Given the description of an element on the screen output the (x, y) to click on. 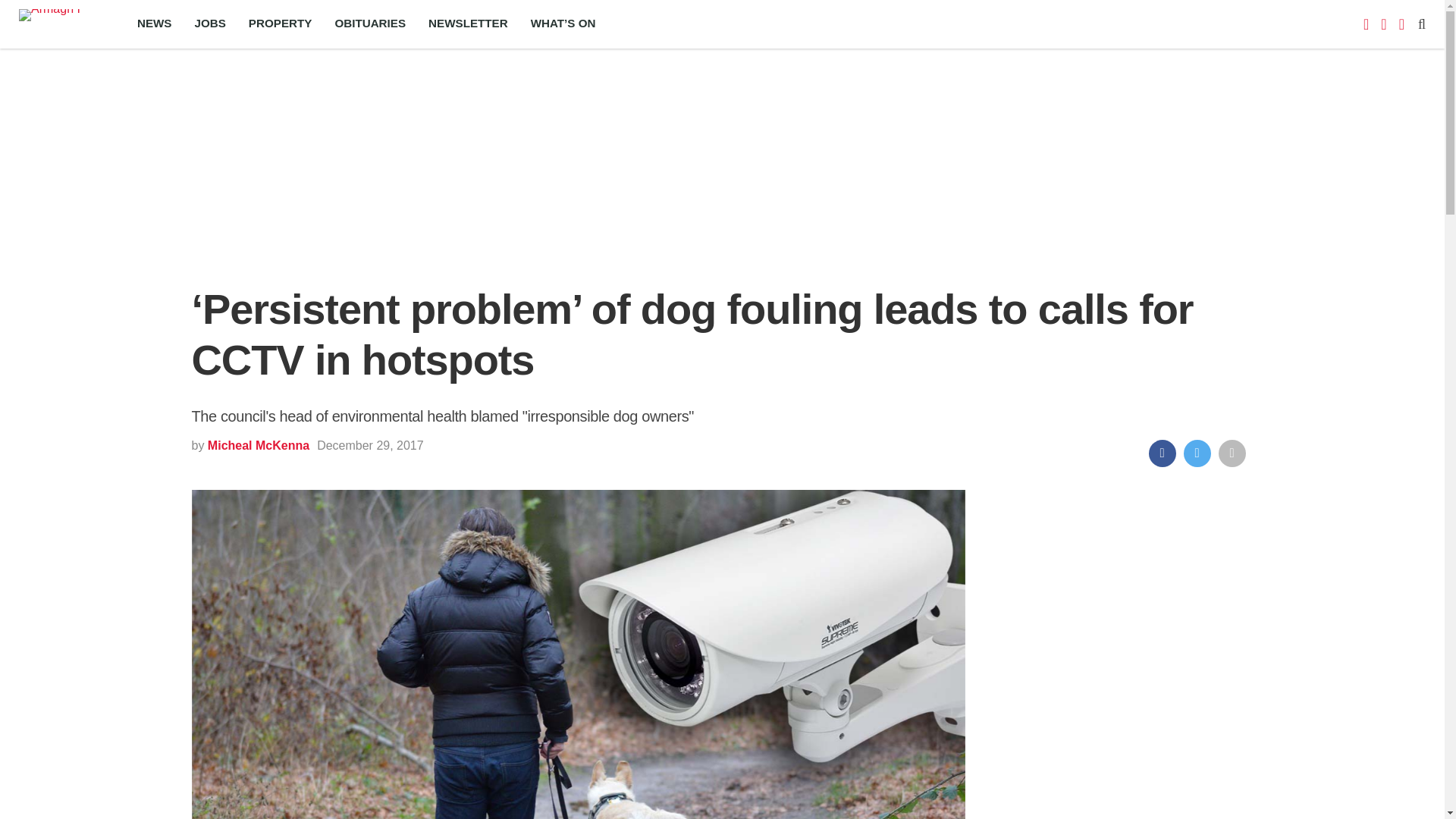
Posts by Micheal McKenna (258, 445)
NEWS (154, 24)
